Given the description of an element on the screen output the (x, y) to click on. 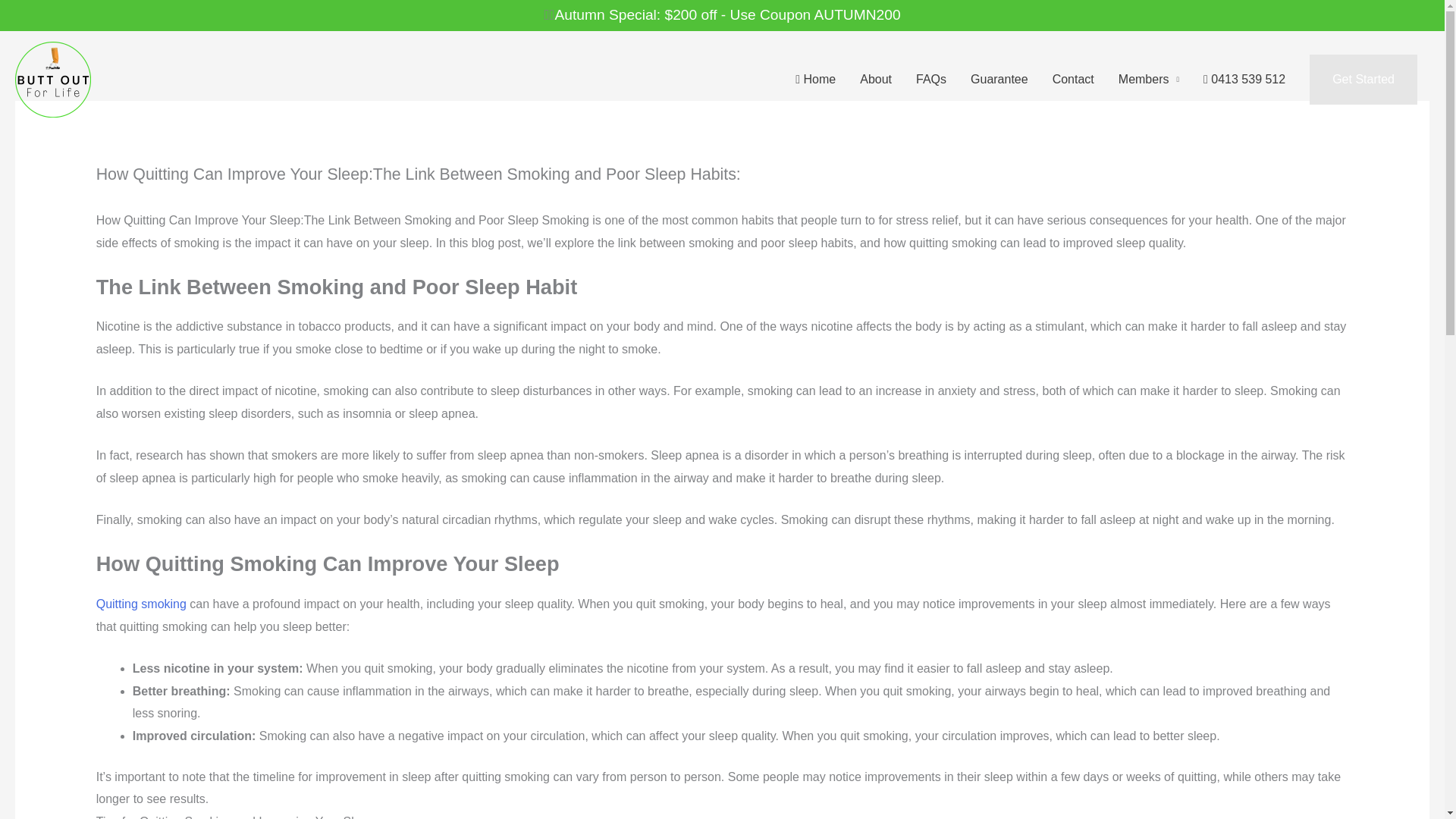
Guarantee (999, 79)
About (875, 79)
Members (1148, 79)
Get Started (1362, 79)
Quitting smoking (141, 603)
FAQs (931, 79)
Contact (1073, 79)
